Given the description of an element on the screen output the (x, y) to click on. 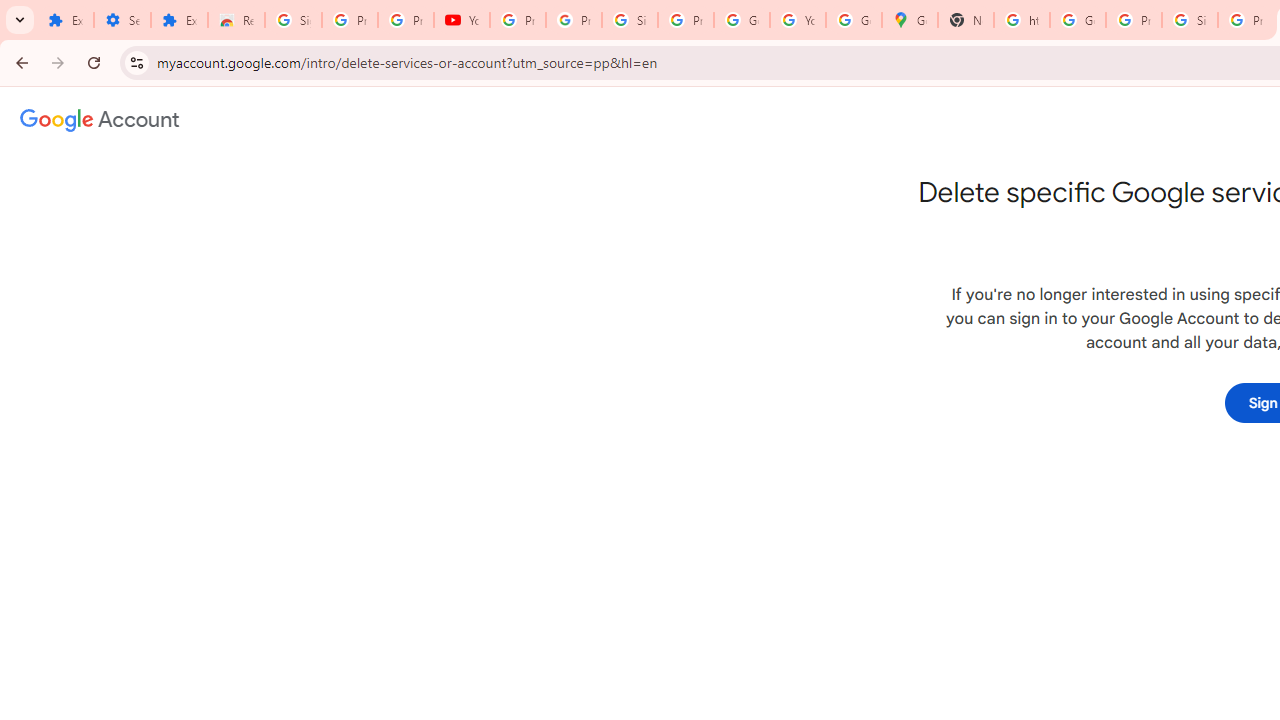
YouTube (461, 20)
Extensions (179, 20)
Settings (122, 20)
View site information (136, 62)
Google Account settings (100, 120)
Google Maps (909, 20)
